Given the description of an element on the screen output the (x, y) to click on. 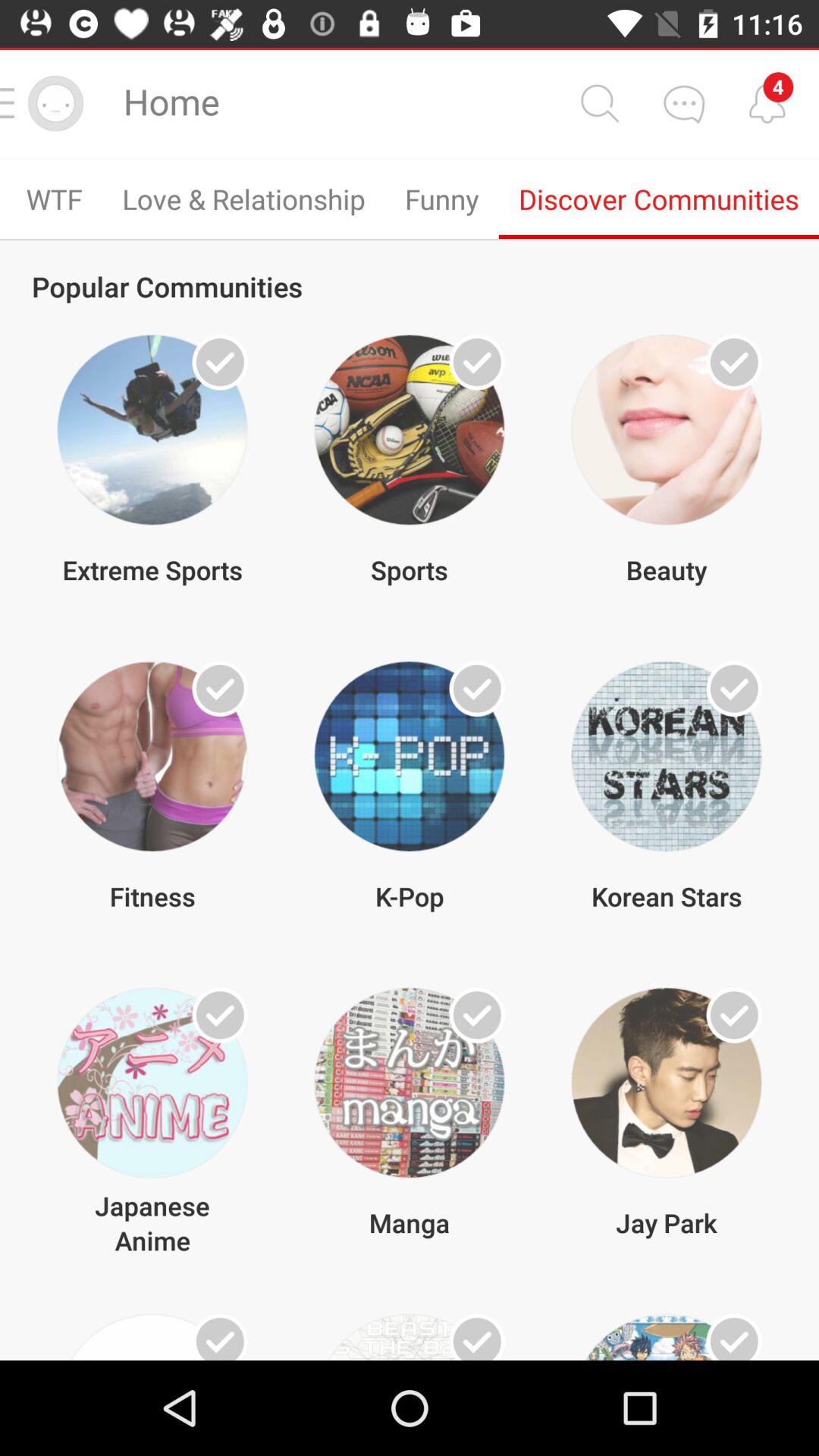
message alerts (766, 103)
